Given the description of an element on the screen output the (x, y) to click on. 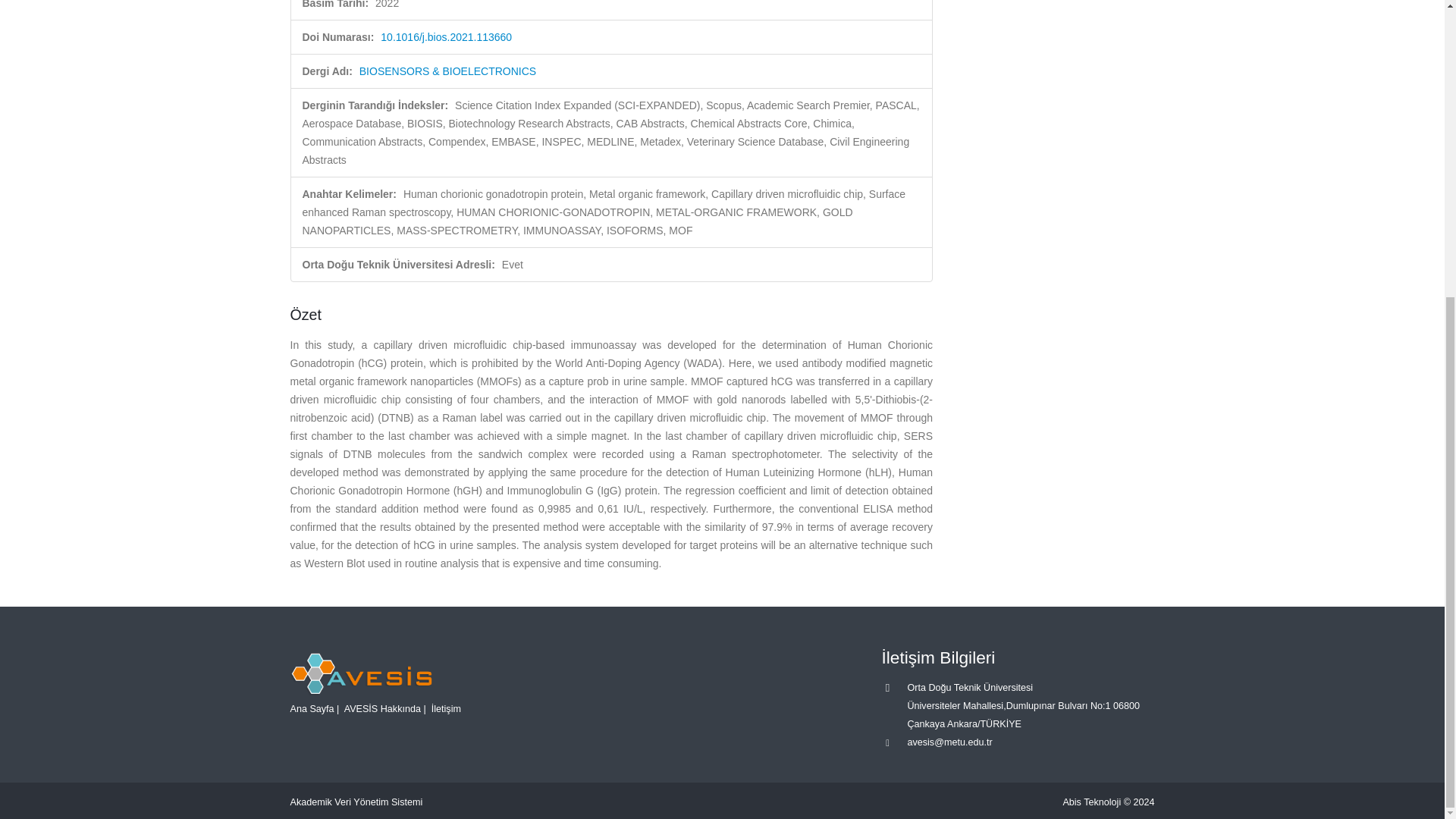
Abis Teknoloji (1091, 801)
Ana Sayfa (311, 708)
